Given the description of an element on the screen output the (x, y) to click on. 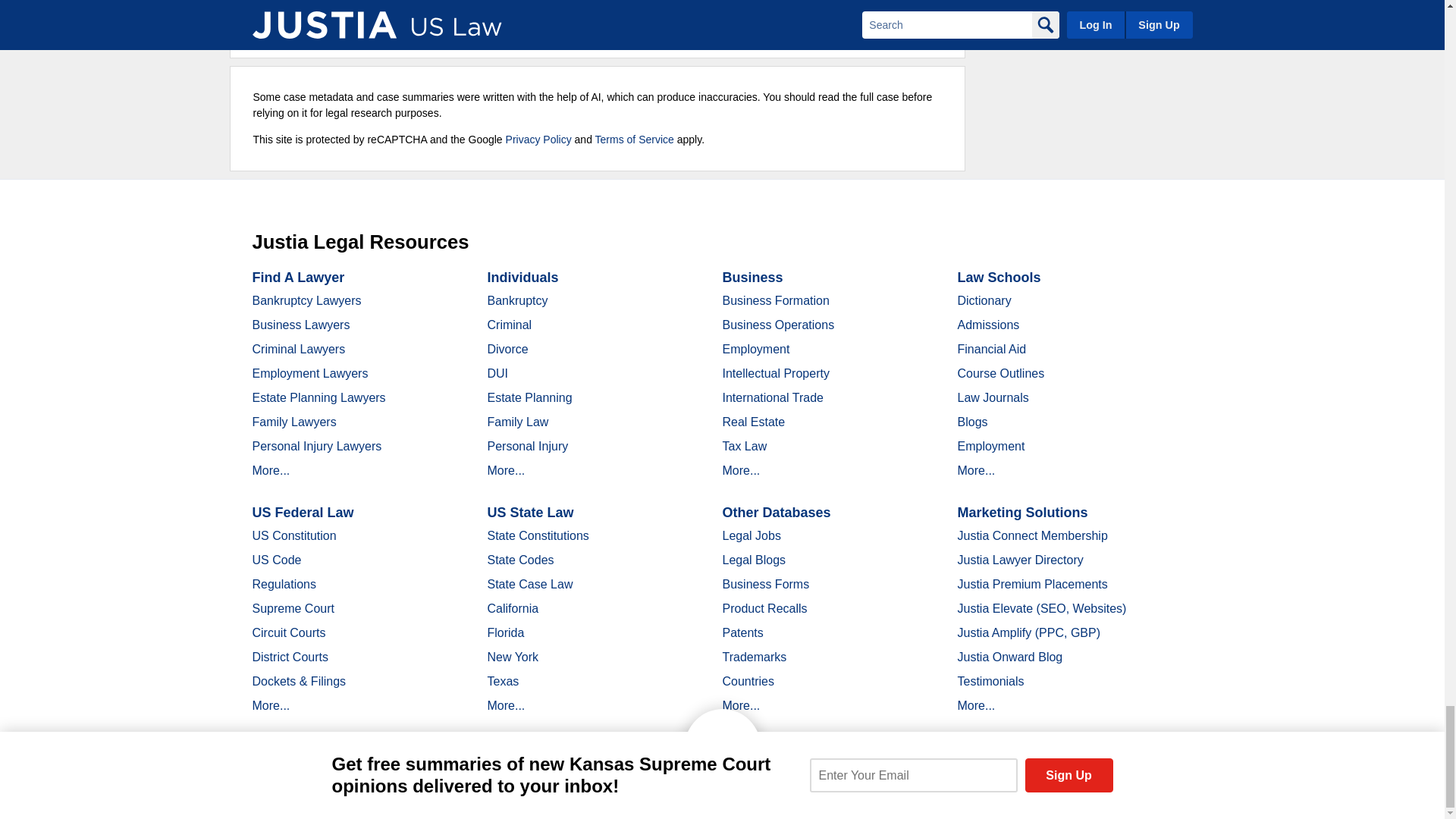
Facebook (345, 791)
Twitter (372, 791)
LinkedIn (398, 791)
